Given the description of an element on the screen output the (x, y) to click on. 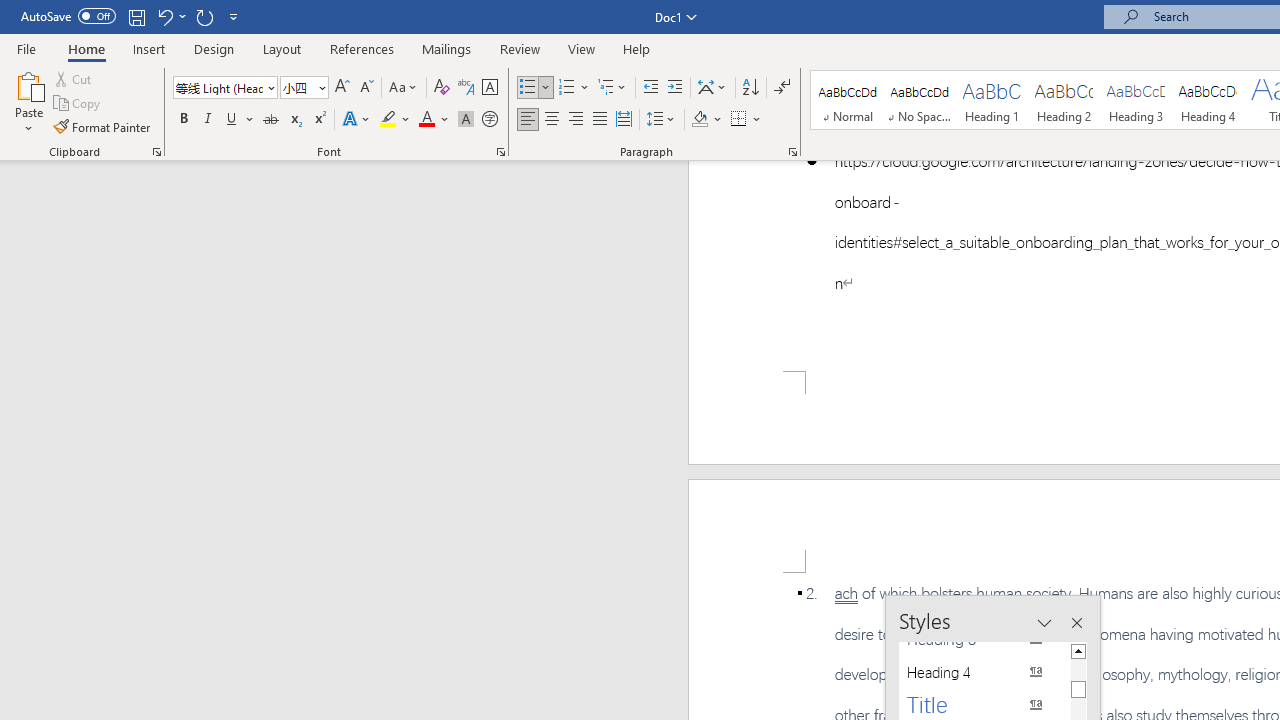
Font Color Automatic (426, 119)
Justify (599, 119)
Bold (183, 119)
Align Left (527, 119)
Line and Paragraph Spacing (661, 119)
Format Painter (103, 126)
Shading (706, 119)
Change Case (404, 87)
Cut (73, 78)
